Given the description of an element on the screen output the (x, y) to click on. 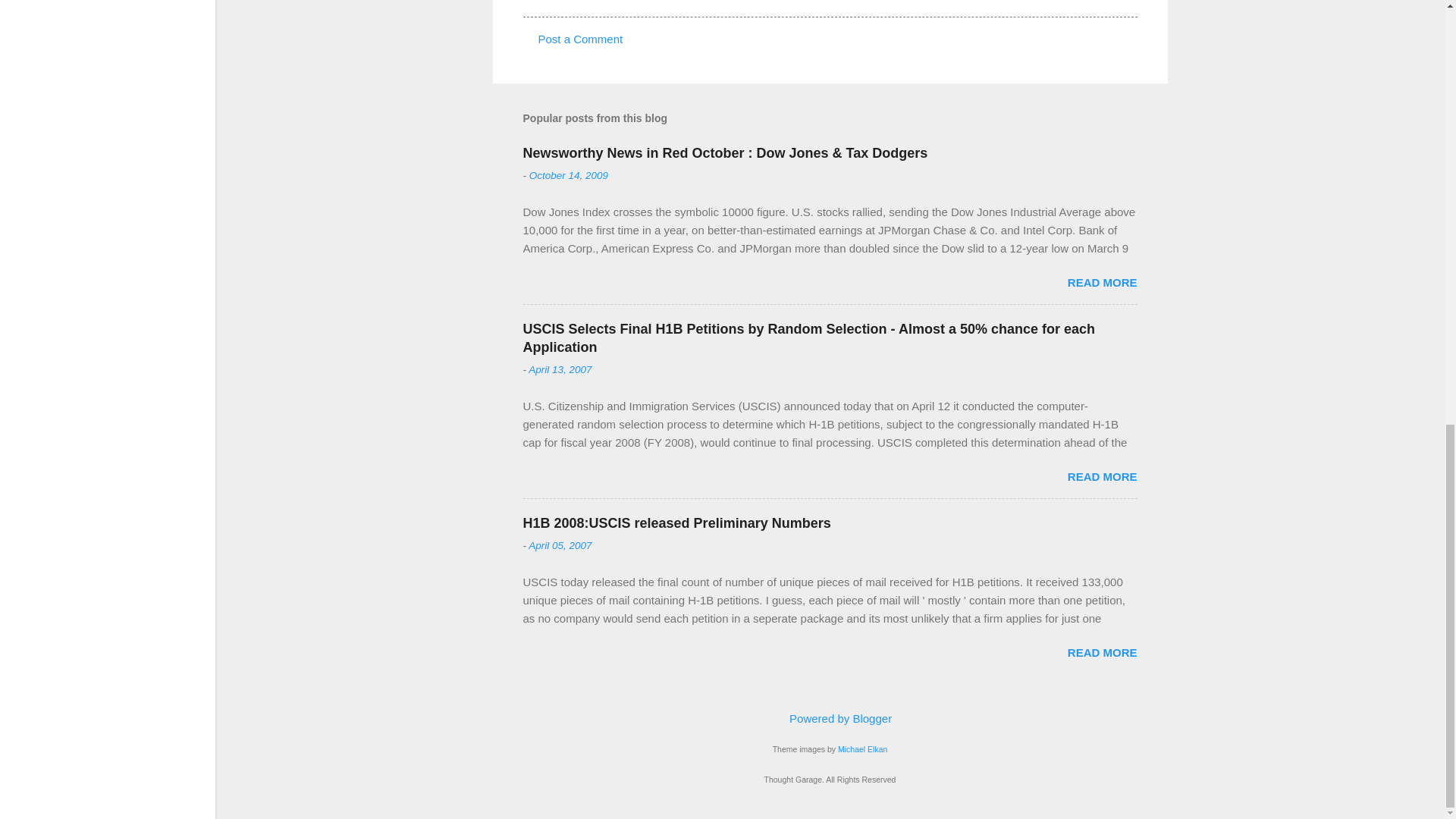
April 05, 2007 (559, 545)
Powered by Blogger (829, 717)
April 13, 2007 (559, 369)
READ MORE (1102, 652)
October 14, 2009 (568, 174)
H1B 2008:USCIS released Preliminary Numbers (676, 522)
READ MORE (1102, 282)
Post a Comment (580, 38)
READ MORE (1102, 476)
permanent link (568, 174)
Michael Elkan (862, 748)
